Given the description of an element on the screen output the (x, y) to click on. 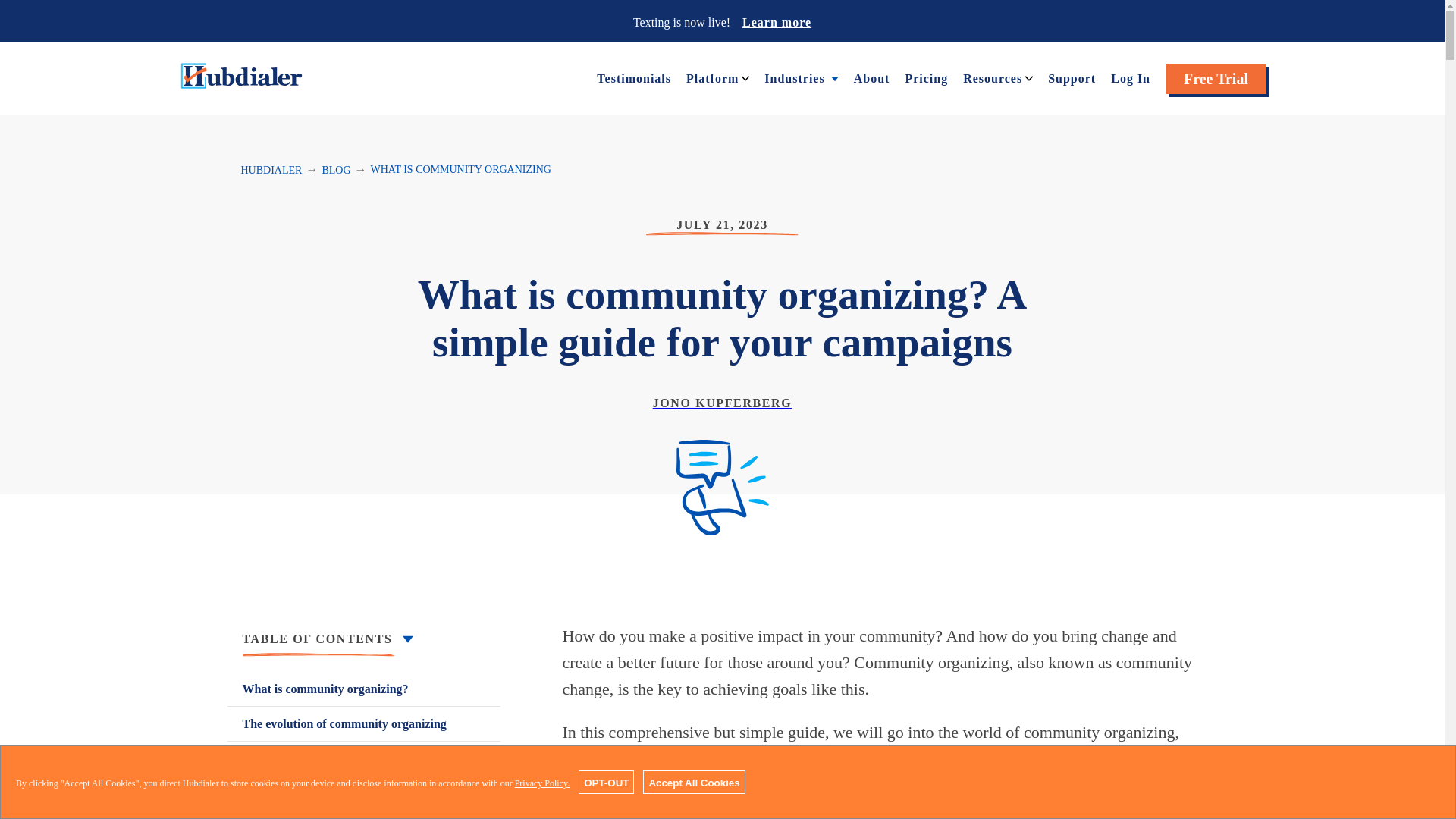
Accept All Cookies (693, 781)
Log In (1130, 77)
HUBDIALER (271, 170)
What is community organizing? (363, 688)
Testimonials (633, 77)
Platform (711, 77)
Resources (992, 77)
What is the first step in community organizing? (363, 768)
Free Trial (1216, 78)
Learn more (776, 21)
OPT-OUT (605, 781)
Support (1072, 77)
About (871, 77)
The evolution of community organizing (363, 723)
